Given the description of an element on the screen output the (x, y) to click on. 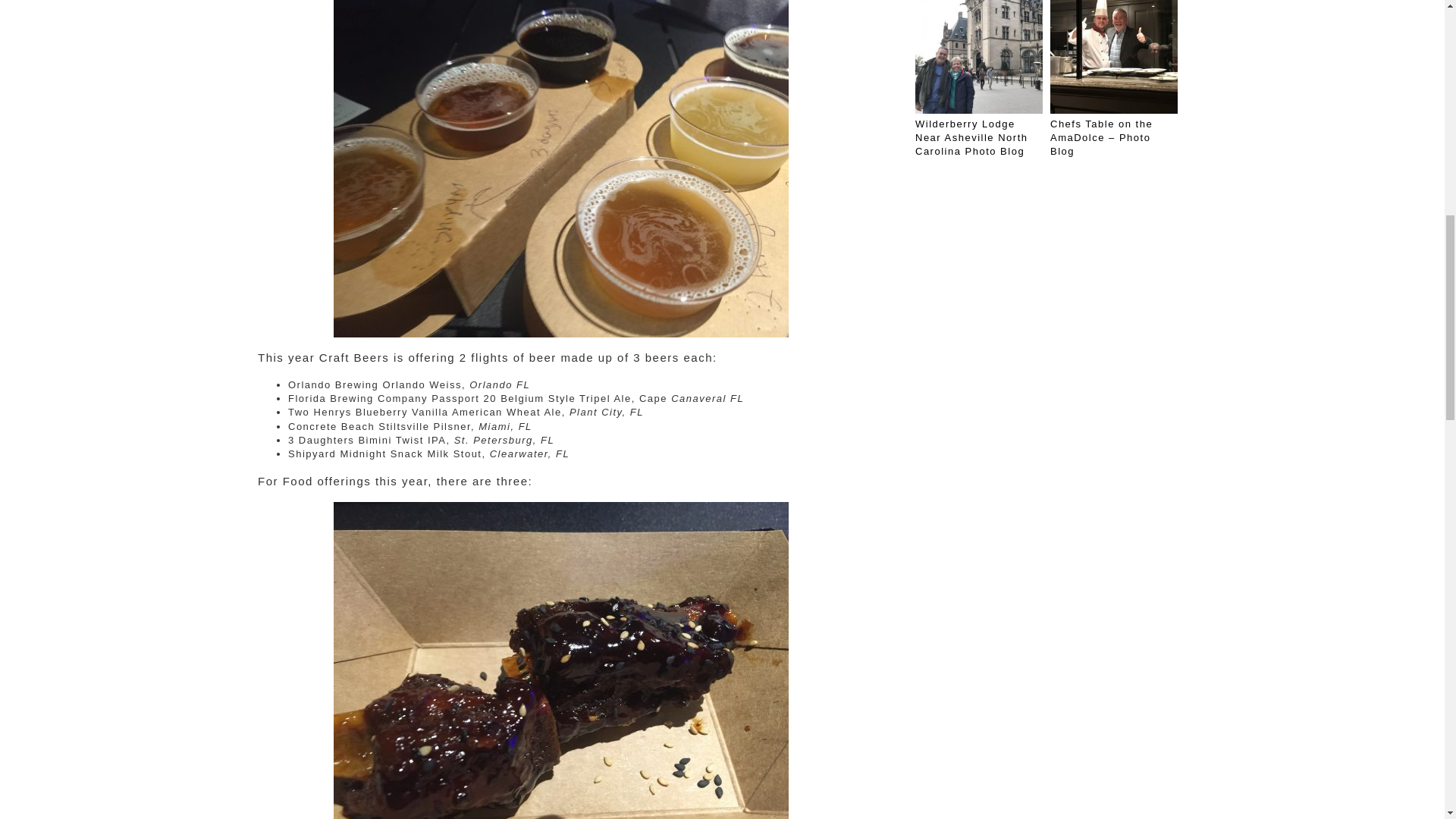
Wilderberry Lodge Near Asheville North Carolina Photo Blog (971, 137)
